Given the description of an element on the screen output the (x, y) to click on. 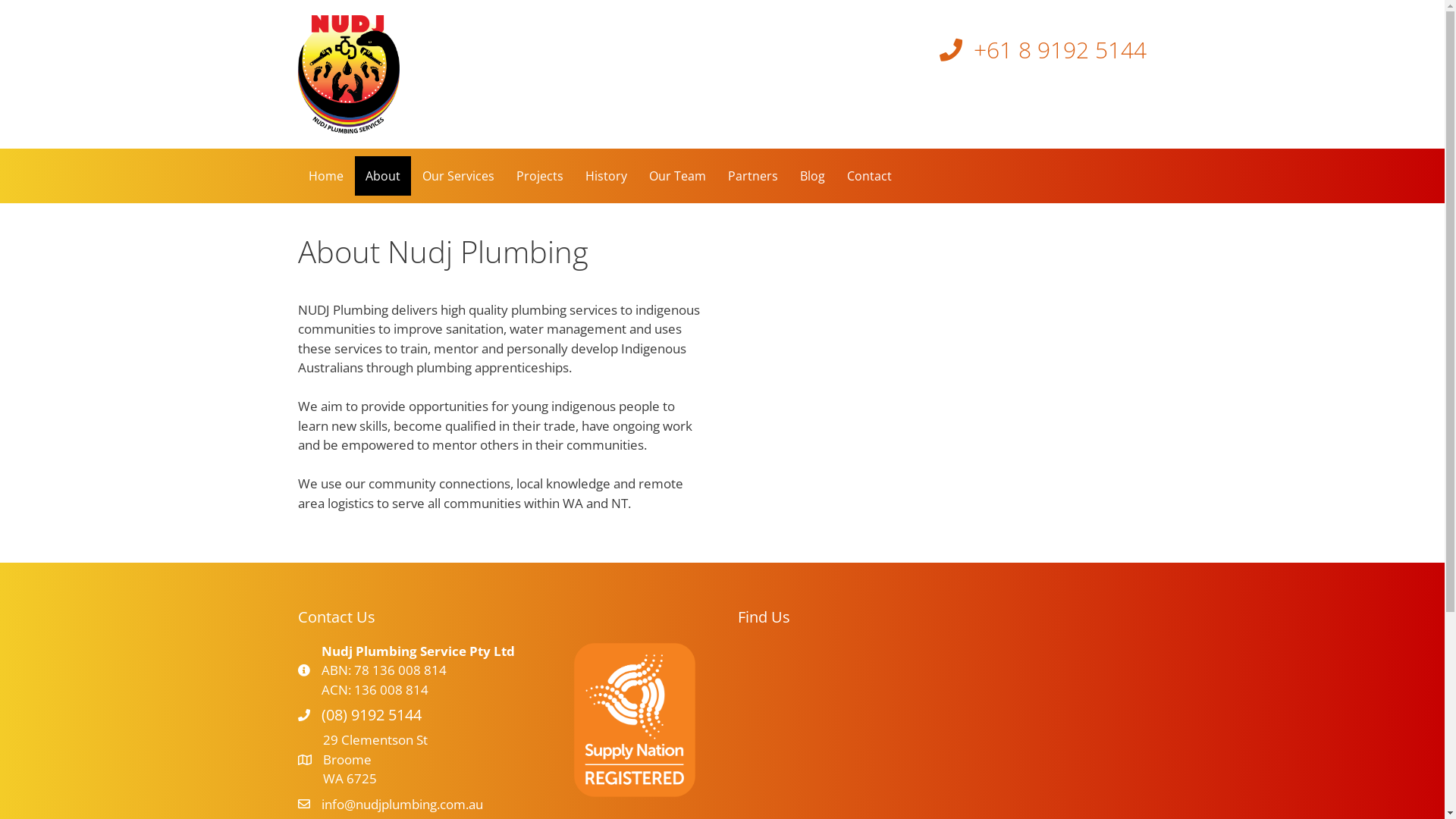
info@nudjplumbing.com.au Element type: text (402, 803)
29 Clementson St
Broome
WA 6725 Element type: text (375, 759)
Blog Element type: text (811, 175)
Contact Element type: text (868, 175)
SN_Registered_ART Element type: hover (634, 719)
History Element type: text (605, 175)
Our Team Element type: text (677, 175)
(08) 9192 5144 Element type: text (371, 715)
Partners Element type: text (752, 175)
Home Element type: text (325, 175)
Projects Element type: text (539, 175)
Nudj_Logo_Transparent_PNG Element type: hover (347, 74)
Our Services Element type: text (457, 175)
NUDJ Plumbing a model in Indigenous employment Element type: hover (941, 415)
About Element type: text (382, 175)
